Given the description of an element on the screen output the (x, y) to click on. 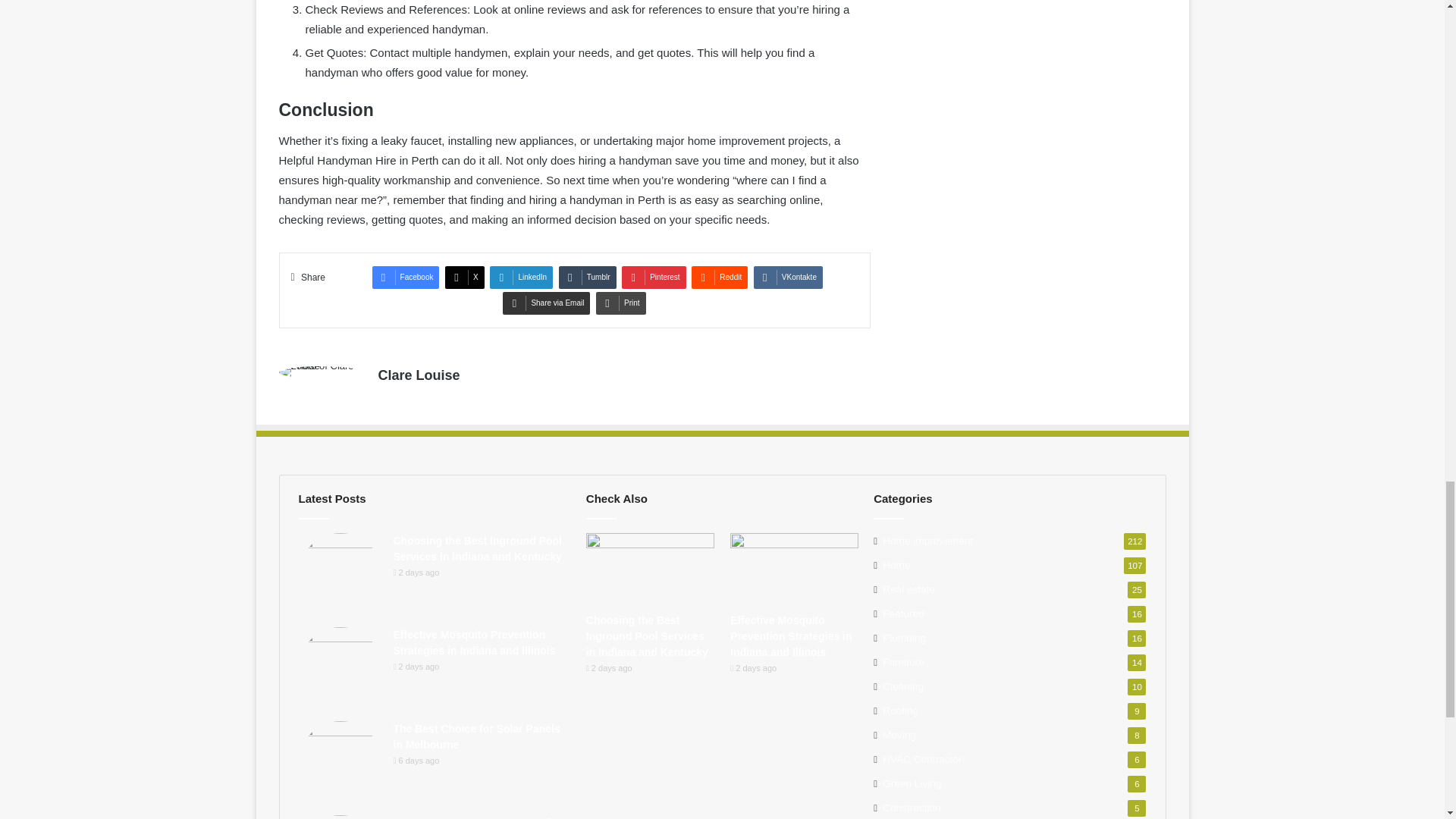
X (464, 277)
Facebook (405, 277)
Pinterest (653, 277)
Tumblr (587, 277)
Reddit (719, 277)
LinkedIn (521, 277)
